Given the description of an element on the screen output the (x, y) to click on. 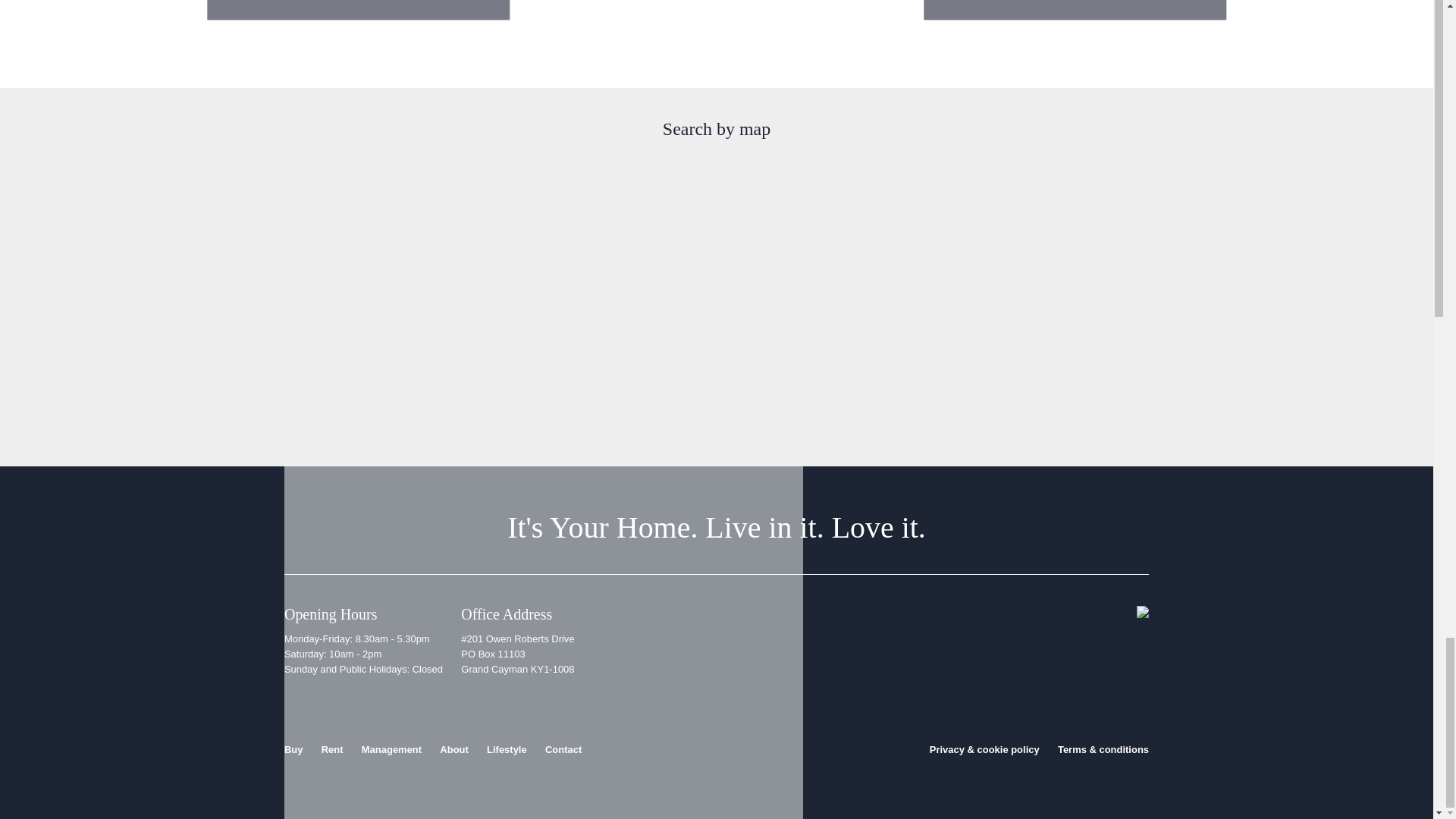
About (454, 749)
Buy (293, 749)
Rent (332, 749)
Contact (563, 749)
Management (391, 749)
Lifestyle (506, 749)
